Given the description of an element on the screen output the (x, y) to click on. 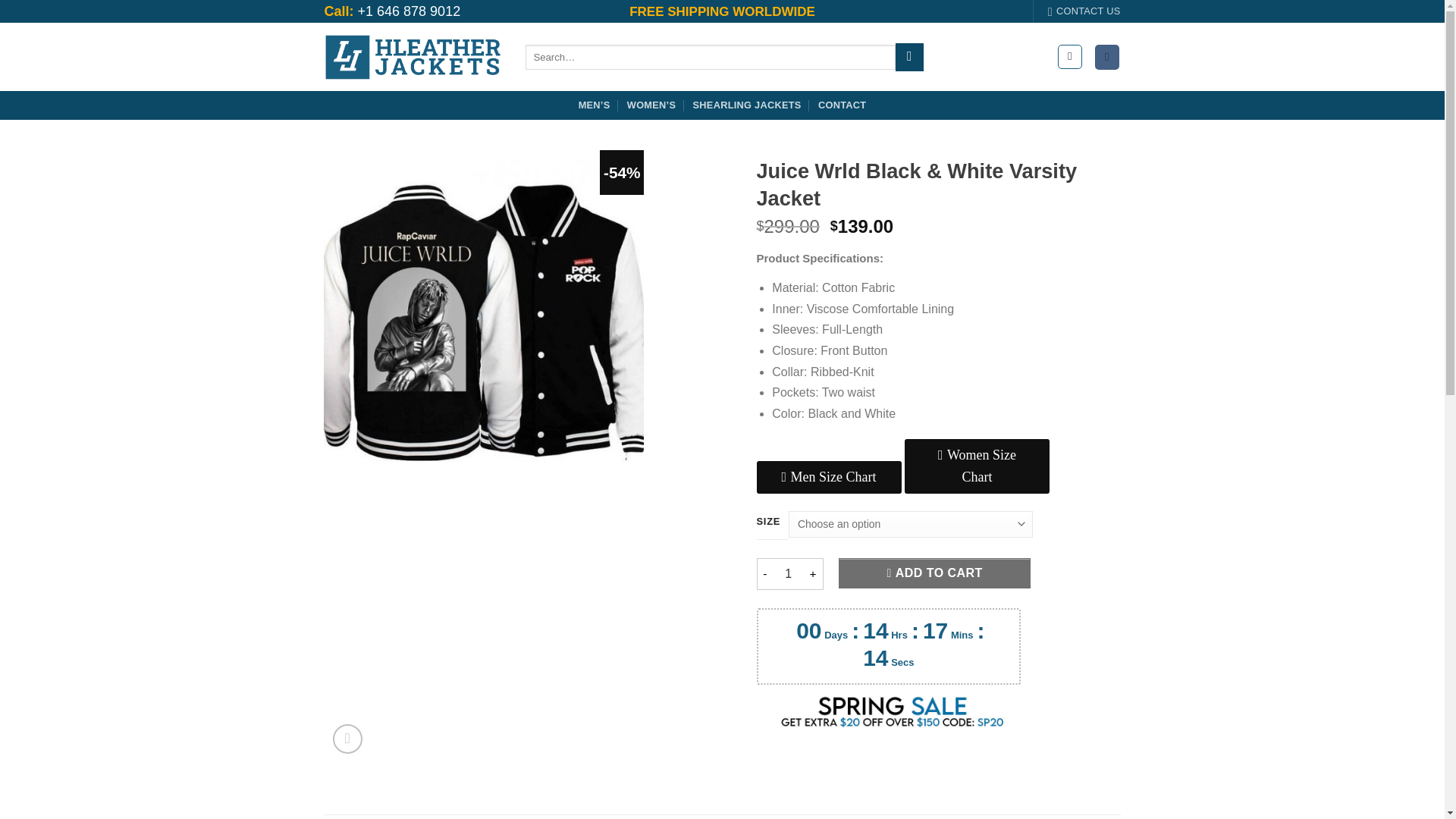
CONTACT (842, 104)
juice-wrld-black-and-white-varsity-jacket (483, 318)
Qty (788, 572)
Men Size Chart (829, 477)
ADD TO CART (934, 572)
SHEARLING JACKETS (747, 104)
Search (909, 57)
1 (788, 572)
CONTACT US (1084, 11)
Hollywood Leather Jackets (413, 57)
Cart (1106, 57)
Women Size Chart (976, 465)
